Given the description of an element on the screen output the (x, y) to click on. 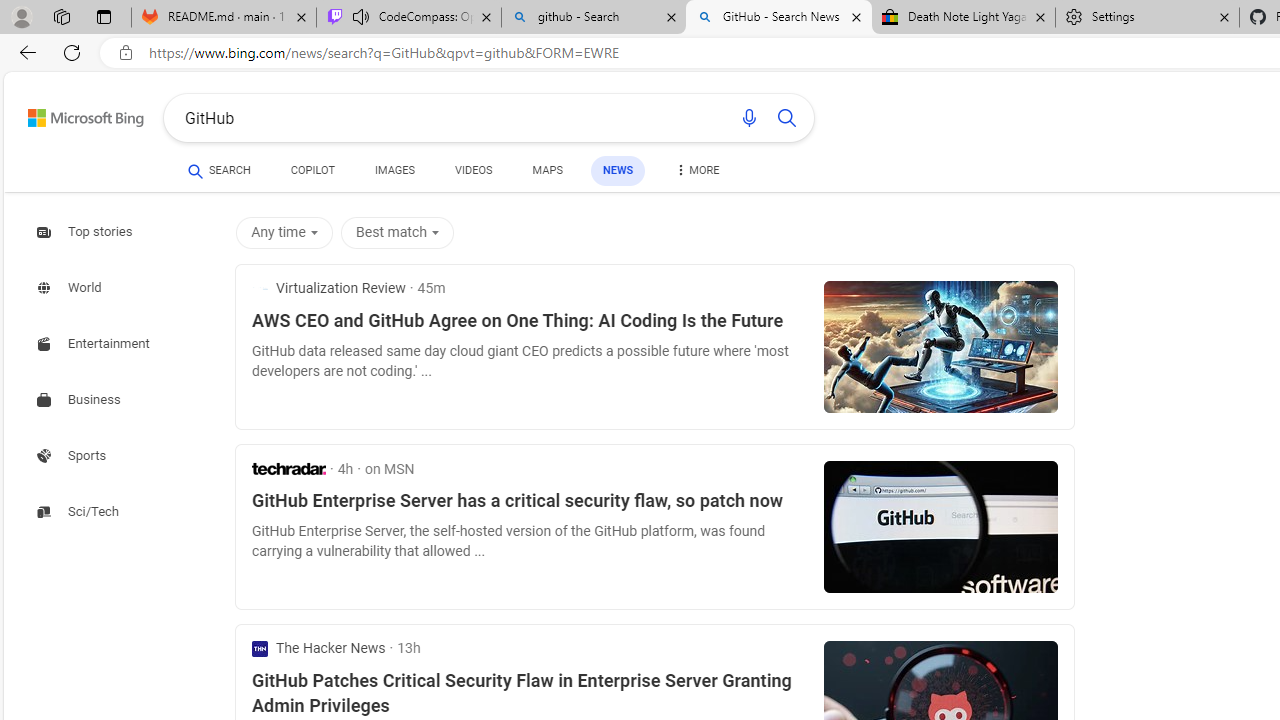
SEARCH (219, 170)
Search news about World (71, 288)
MORE (696, 173)
github - Search (593, 17)
TechRadar (289, 468)
GitHub - Search News (779, 17)
Search news about Entertainment (95, 344)
Back to Bing search (73, 113)
